Given the description of an element on the screen output the (x, y) to click on. 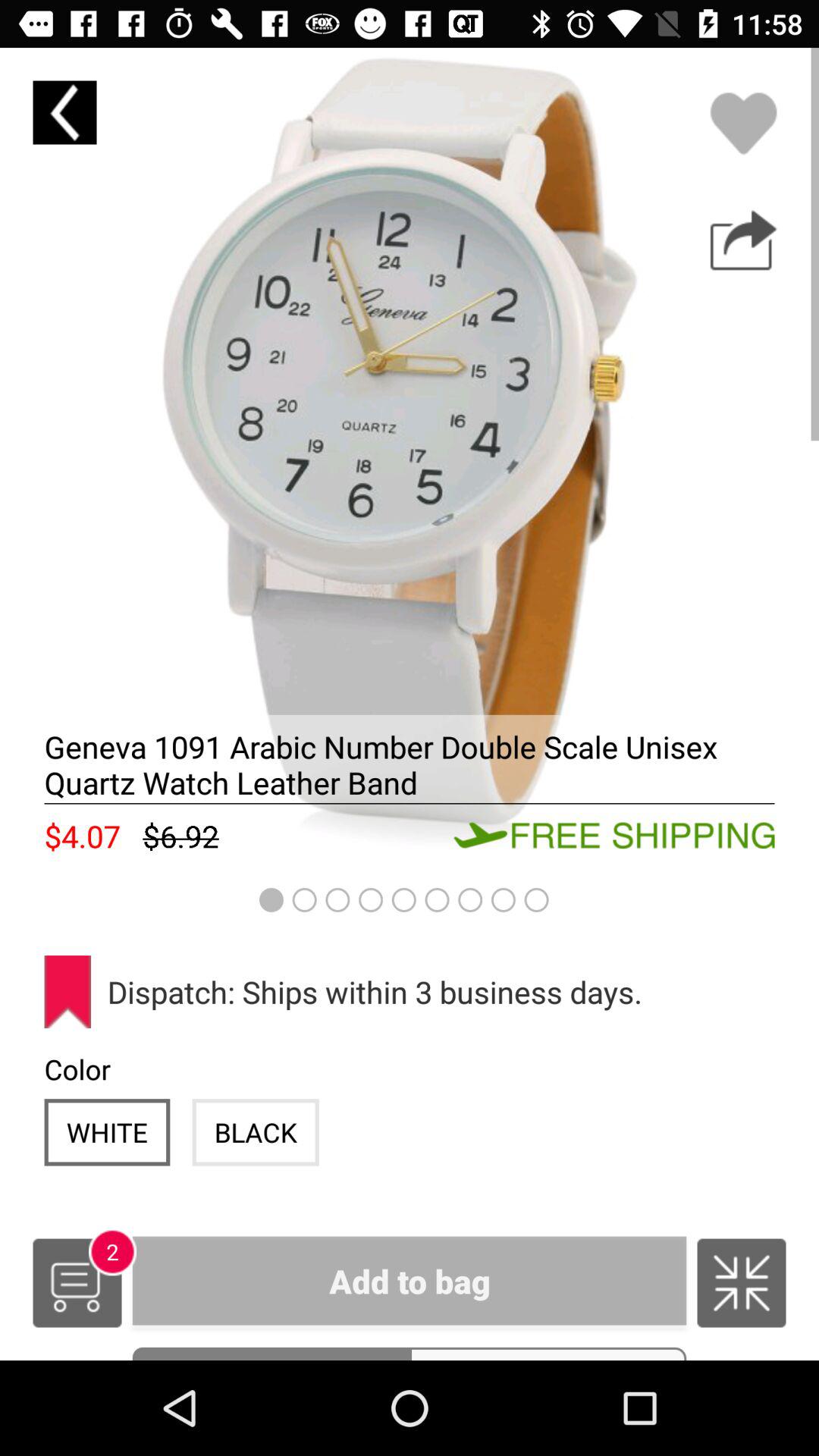
go back (64, 112)
